Given the description of an element on the screen output the (x, y) to click on. 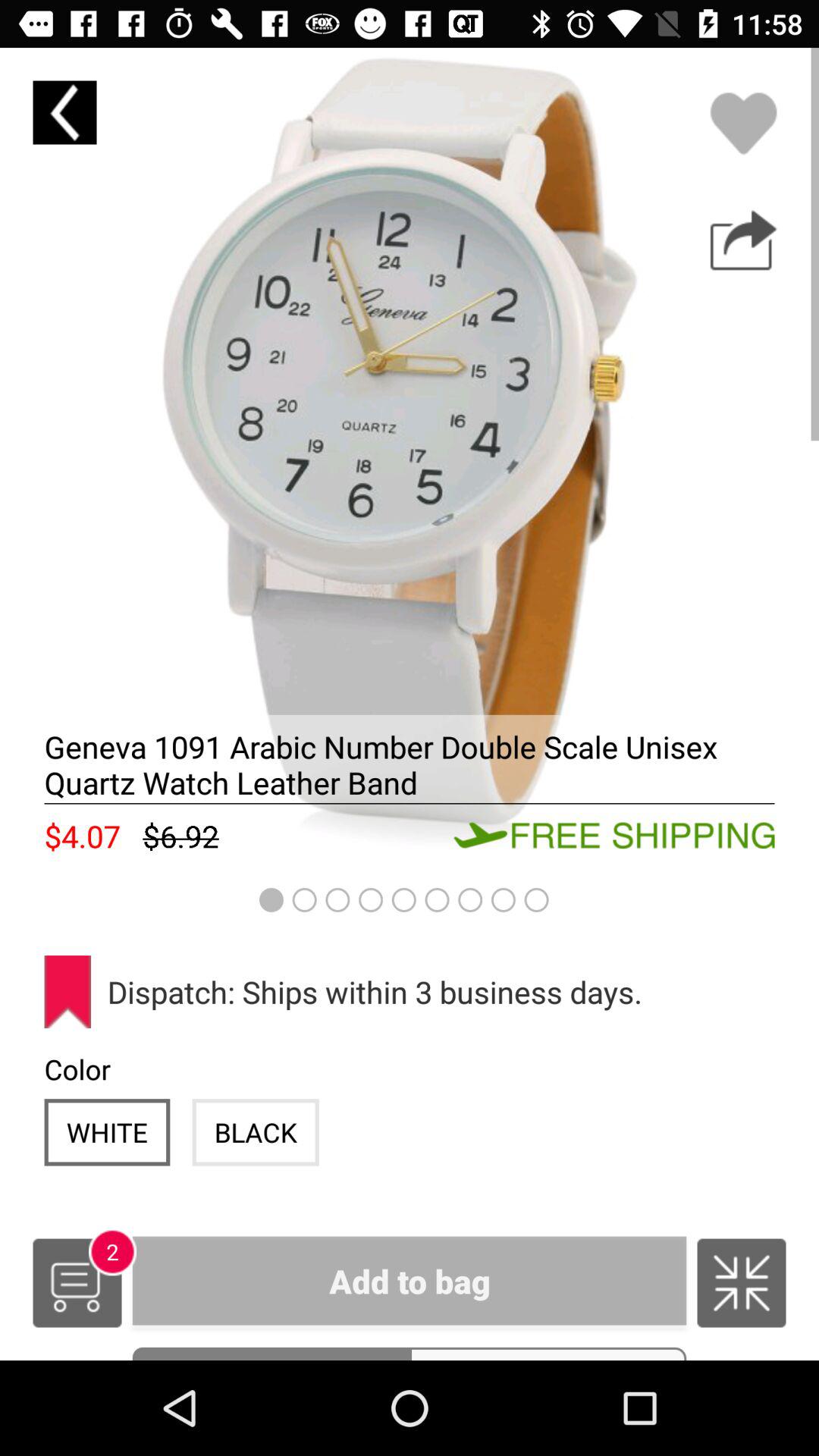
go back (64, 112)
